Given the description of an element on the screen output the (x, y) to click on. 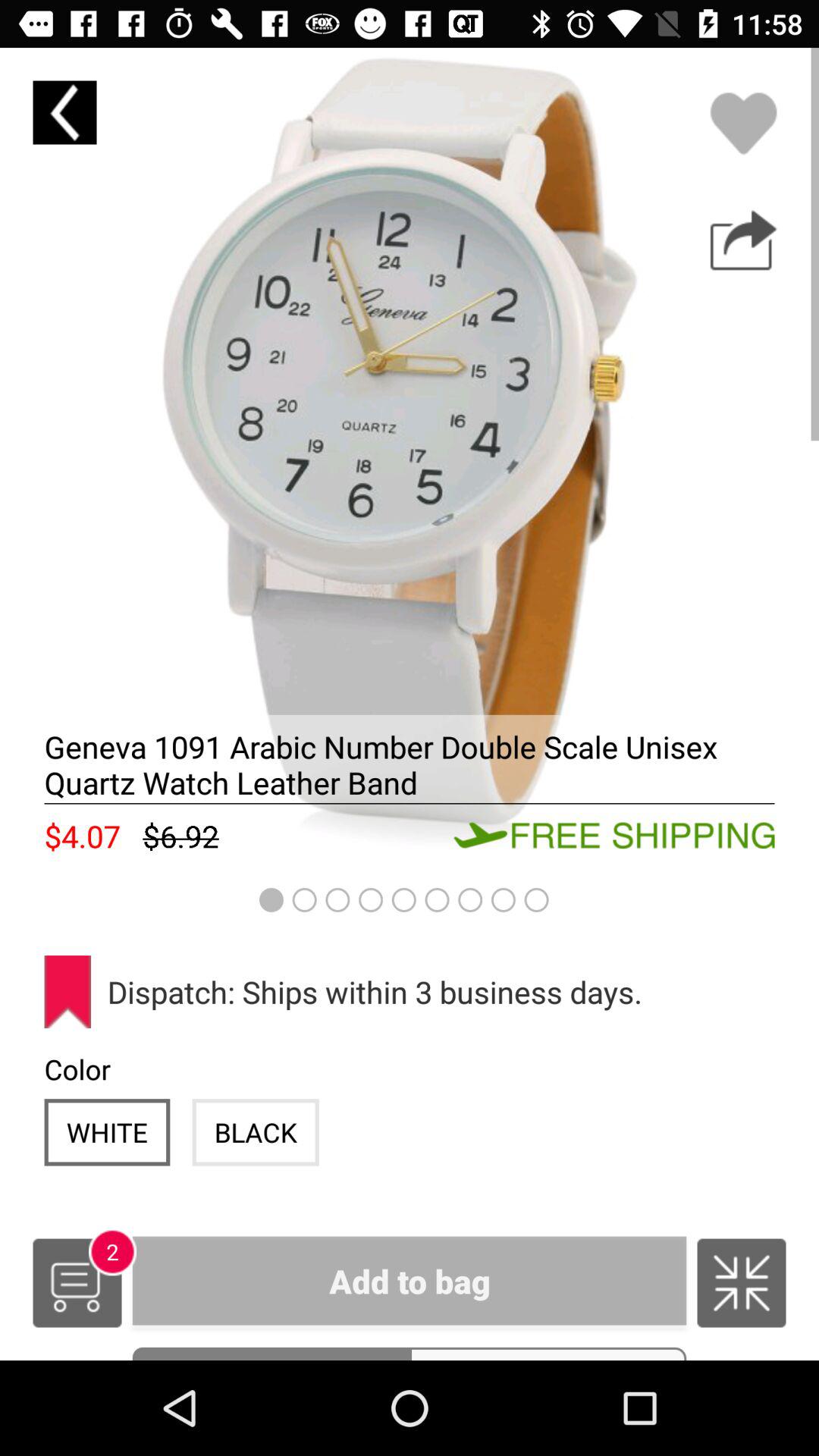
go back (64, 112)
